Given the description of an element on the screen output the (x, y) to click on. 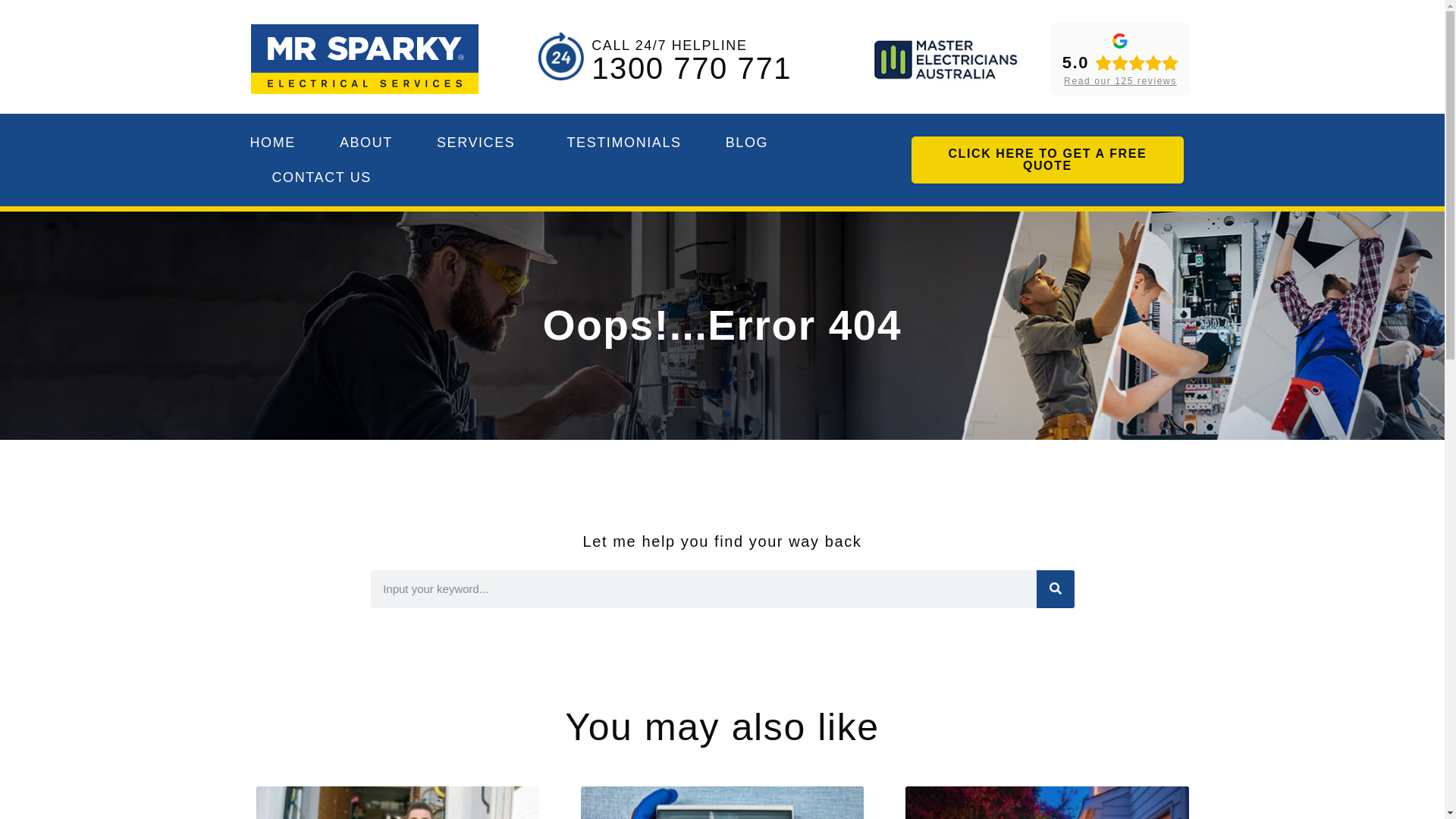
HOME Element type: text (272, 142)
CONTACT US Element type: text (320, 177)
1300 770 771 Element type: text (691, 67)
ABOUT Element type: text (365, 142)
SERVICES Element type: text (479, 142)
CLICK HERE TO GET A FREE QUOTE Element type: text (1047, 159)
TESTIMONIALS Element type: text (623, 142)
BLOG Element type: text (746, 142)
